Given the description of an element on the screen output the (x, y) to click on. 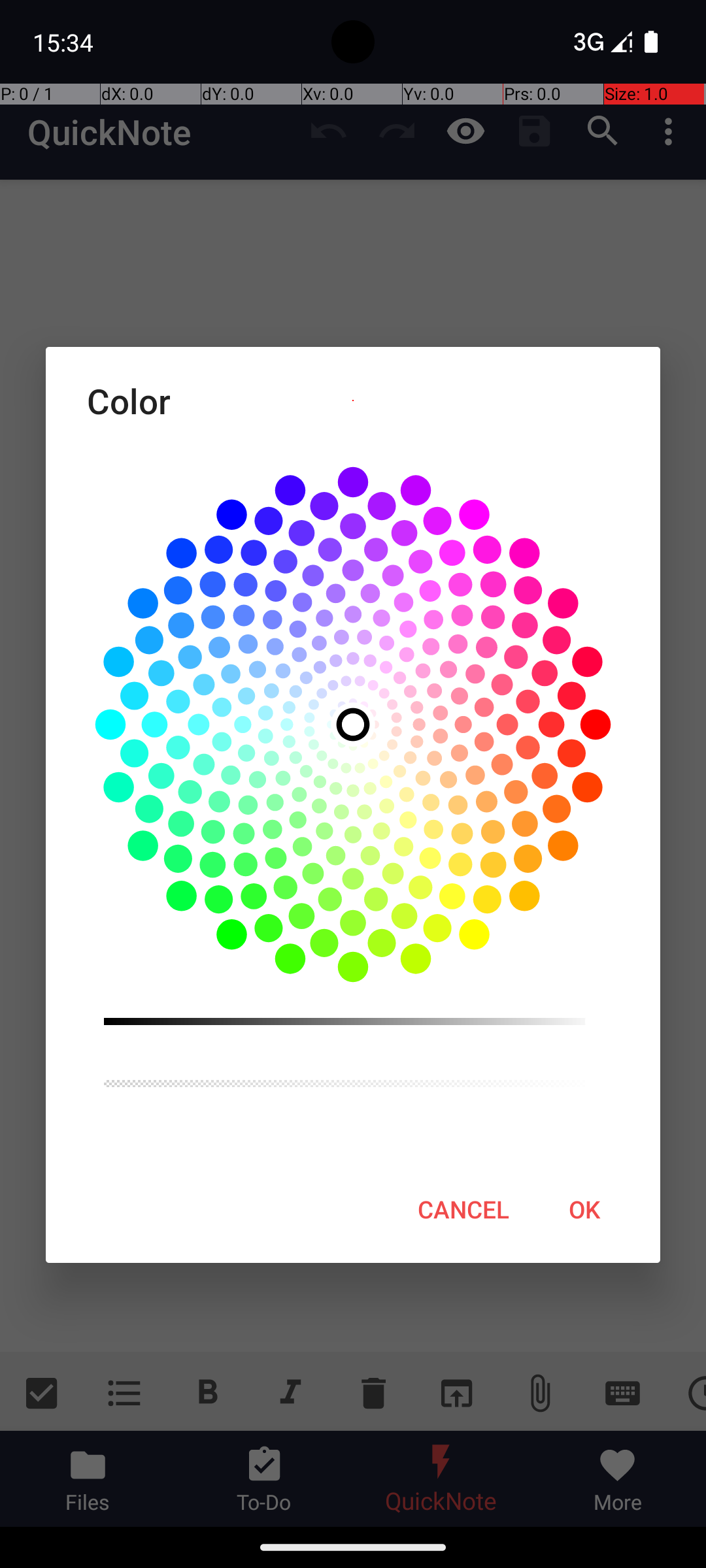
Color Element type: android.widget.TextView (352, 400)
